Given the description of an element on the screen output the (x, y) to click on. 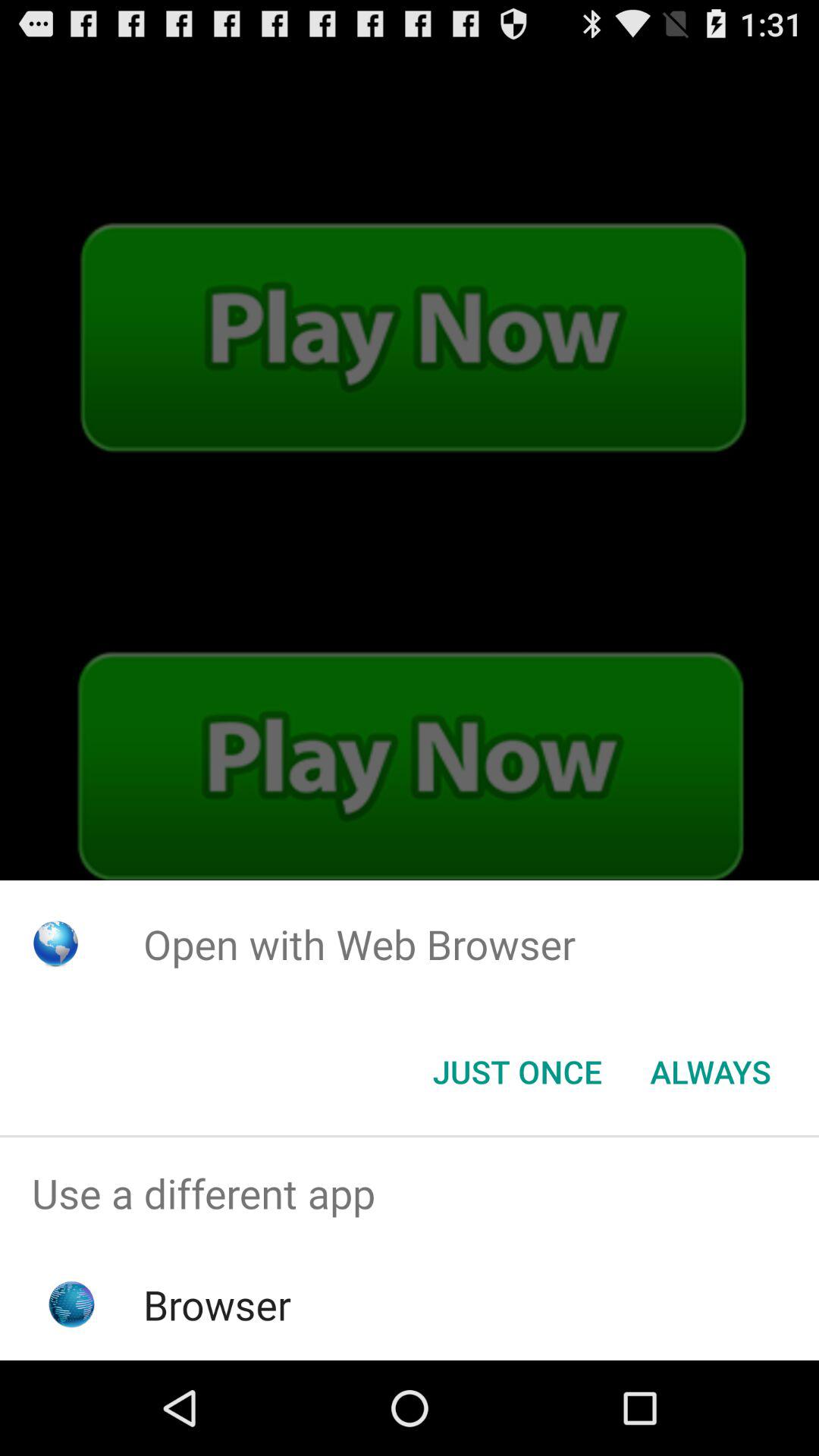
turn off the always item (710, 1071)
